Given the description of an element on the screen output the (x, y) to click on. 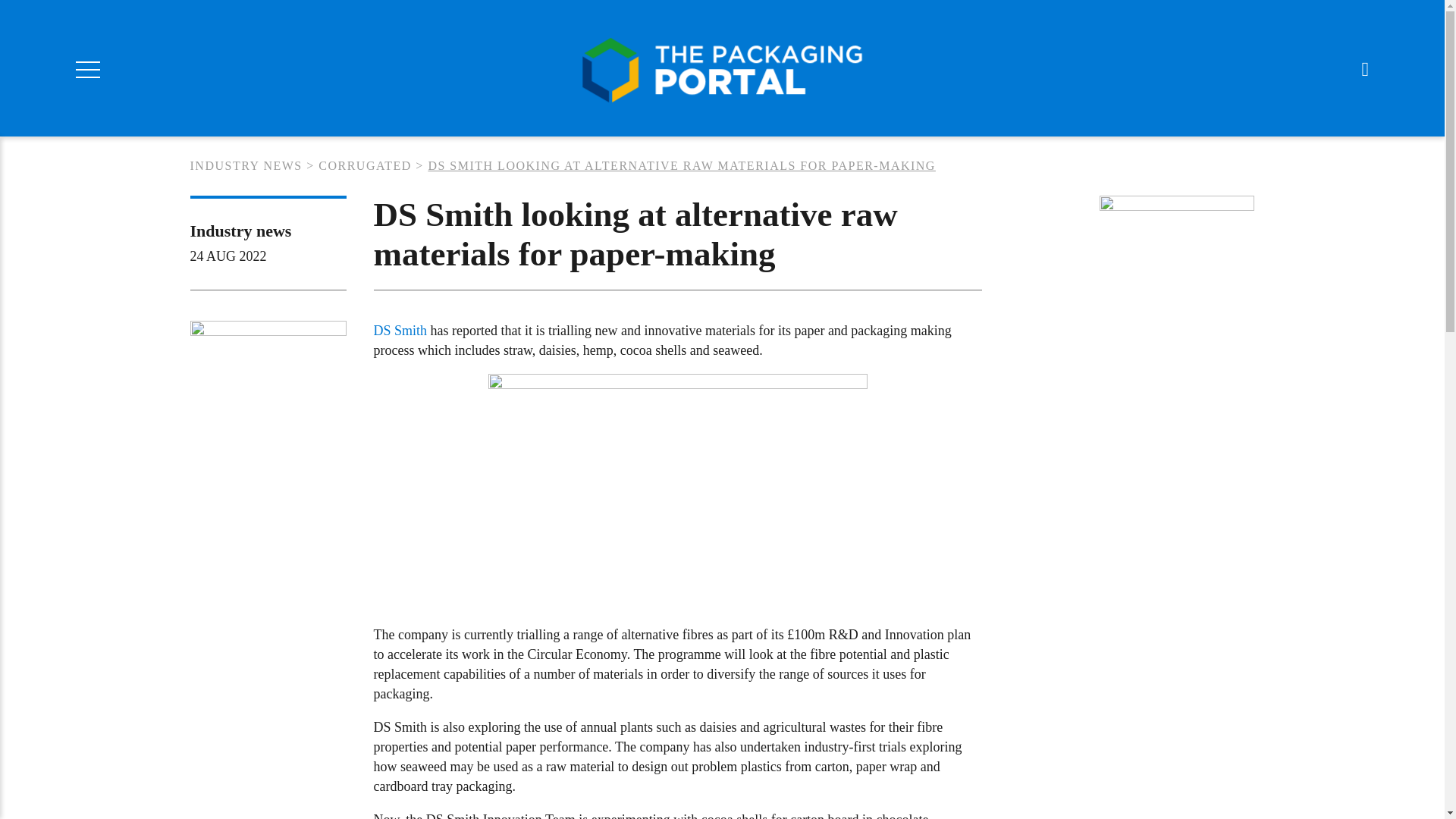
DS Smith (399, 330)
INDUSTRY NEWS (245, 164)
Go to Industry news. (245, 164)
CORRUGATED (365, 164)
Go to the Corrugated Categories archives. (365, 164)
